Given the description of an element on the screen output the (x, y) to click on. 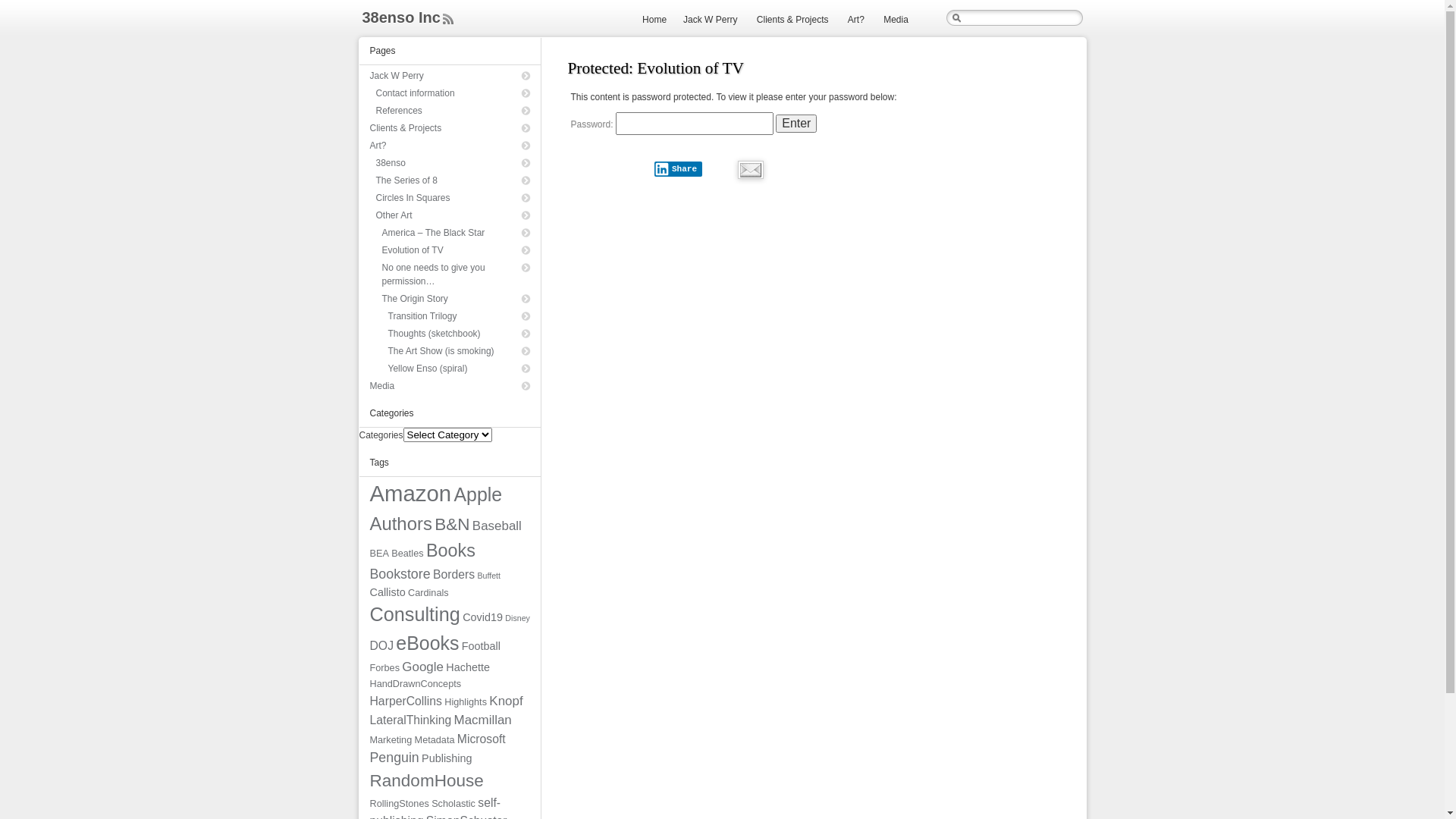
Clients & Projects Element type: text (450, 127)
Google Element type: text (422, 666)
Media Element type: text (450, 385)
Clients & Projects Element type: text (792, 19)
Email Element type: hover (749, 169)
eBooks Element type: text (426, 642)
Books Element type: text (450, 550)
HarperCollins Element type: text (406, 700)
B&N Element type: text (451, 523)
Search Element type: text (21, 7)
Bookstore Element type: text (400, 573)
Borders Element type: text (453, 573)
Marketing Element type: text (391, 739)
Home Element type: text (654, 19)
References Element type: text (453, 110)
Other Art Element type: text (453, 215)
Evolution of TV Element type: text (456, 250)
The Series of 8 Element type: text (453, 180)
Macmillan Element type: text (482, 719)
Metadata Element type: text (434, 739)
Hachette Element type: text (467, 667)
Jack W Perry Element type: text (710, 19)
BEA Element type: text (379, 553)
LateralThinking Element type: text (410, 719)
Covid19 Element type: text (482, 617)
Beatles Element type: text (407, 553)
Penguin Element type: text (394, 757)
38enso Element type: text (453, 162)
Baseball Element type: text (496, 525)
The Origin Story Element type: text (456, 298)
Scholastic Element type: text (453, 803)
Buffett Element type: text (488, 575)
Disney Element type: text (517, 617)
Microsoft Element type: text (481, 738)
Jack W Perry Element type: text (450, 75)
Yellow Enso (spiral) Element type: text (459, 368)
Forbes Element type: text (385, 667)
Contact information Element type: text (453, 93)
38enso Inc Element type: text (401, 17)
The Art Show (is smoking) Element type: text (459, 350)
Share Element type: text (677, 168)
Publishing Element type: text (446, 758)
Feed Rss Element type: text (448, 18)
Authors Element type: text (401, 523)
HandDrawnConcepts Element type: text (415, 683)
Consulting Element type: text (415, 613)
Transition Trilogy Element type: text (459, 316)
Cardinals Element type: text (427, 592)
Highlights Element type: text (465, 701)
Art? Element type: text (855, 19)
DOJ Element type: text (382, 645)
Circles In Squares Element type: text (453, 197)
Football Element type: text (480, 646)
Knopf Element type: text (505, 700)
Callisto Element type: text (387, 592)
Apple Element type: text (477, 494)
RandomHouse Element type: text (426, 780)
Media Element type: text (895, 19)
Thoughts (sketchbook) Element type: text (459, 333)
Art? Element type: text (450, 145)
Enter Element type: text (795, 123)
Amazon Element type: text (410, 492)
RollingStones Element type: text (399, 803)
